Given the description of an element on the screen output the (x, y) to click on. 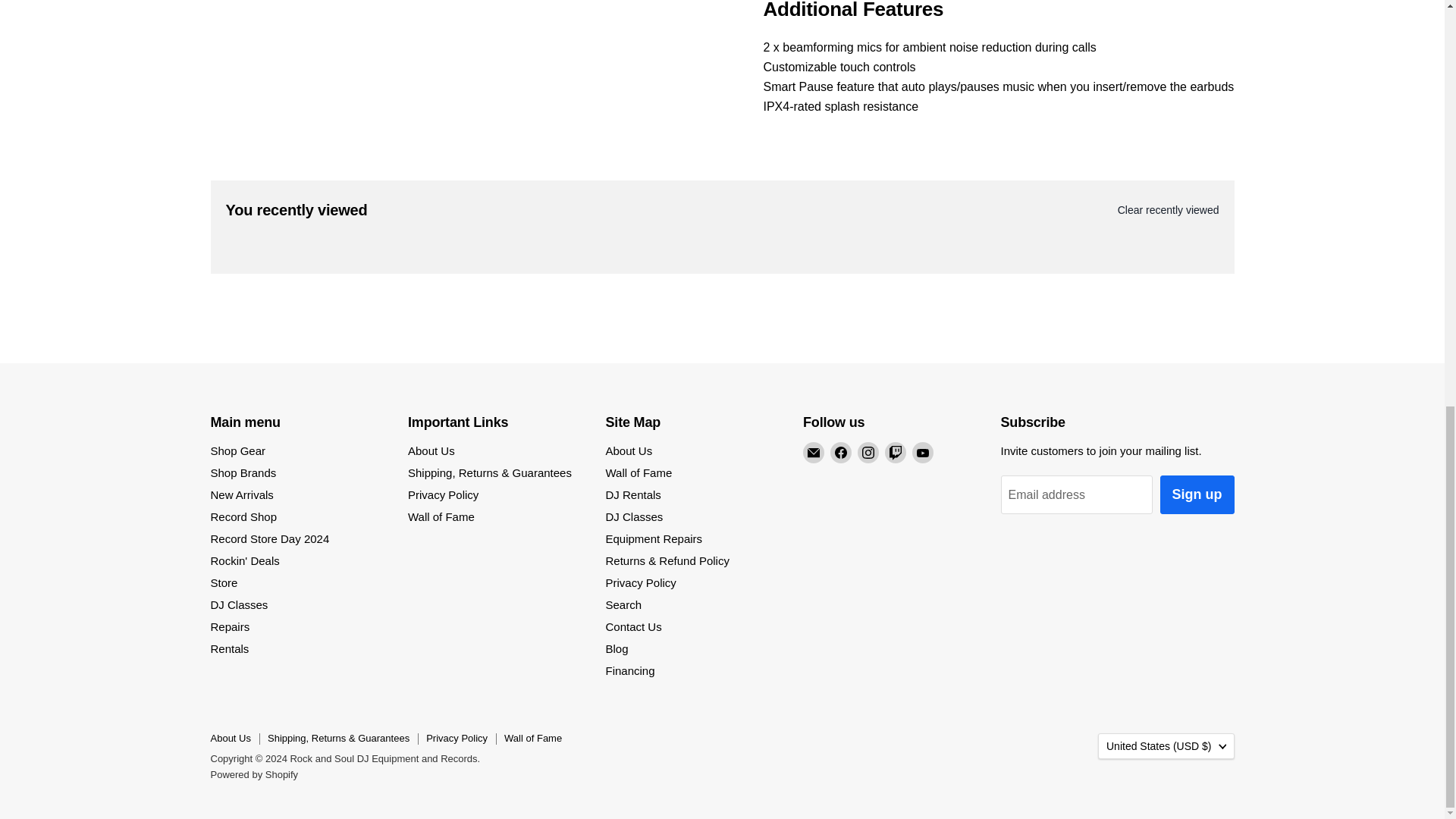
Twitch (895, 452)
Facebook (840, 452)
YouTube (922, 452)
Email (813, 452)
Instagram (868, 452)
